Given the description of an element on the screen output the (x, y) to click on. 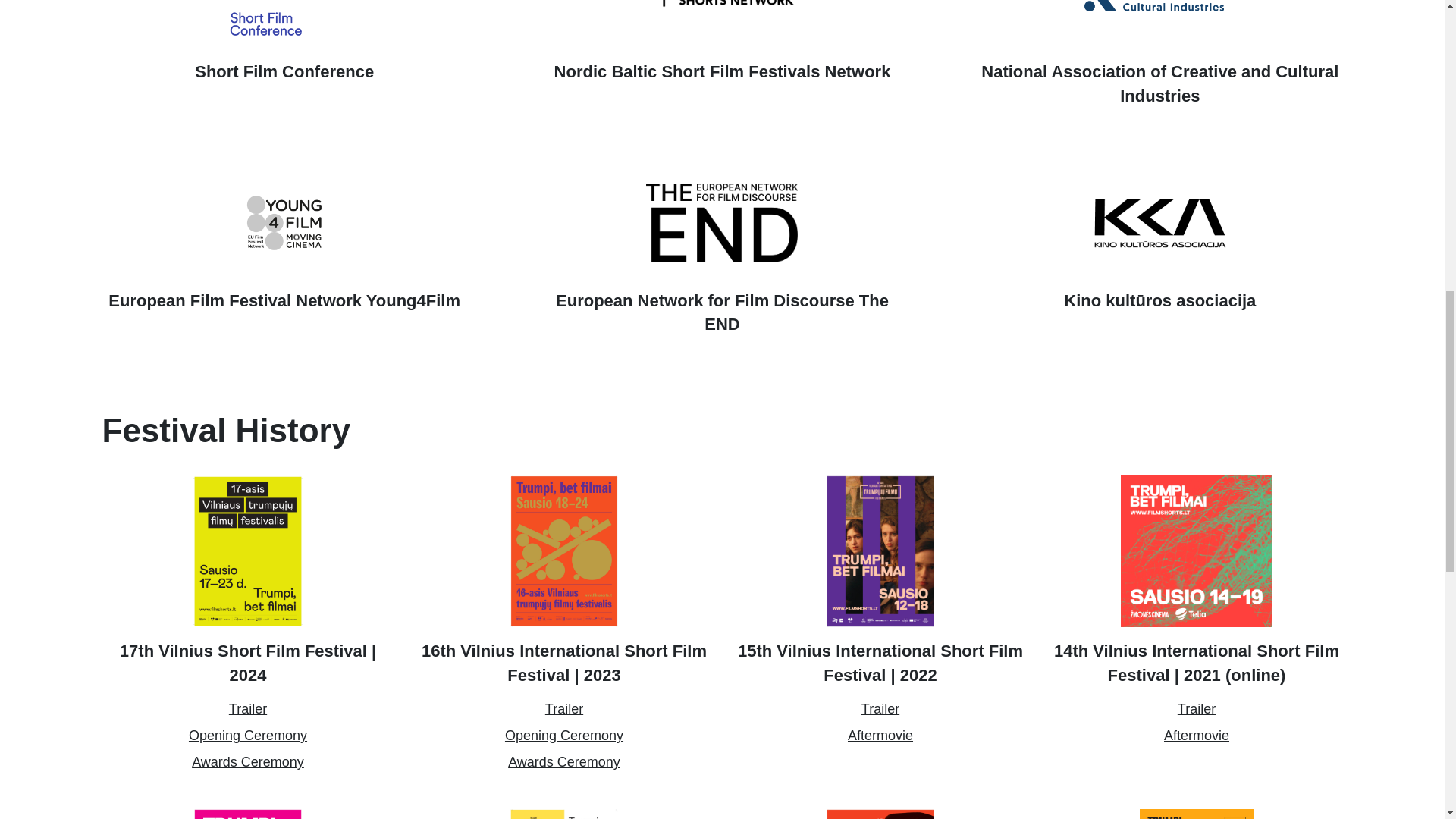
Opening Ceremony (564, 735)
Opening Ceremony (248, 735)
Trailer (247, 709)
Awards Ceremony (564, 762)
Awards Ceremony (248, 762)
Trailer (563, 709)
